Given the description of an element on the screen output the (x, y) to click on. 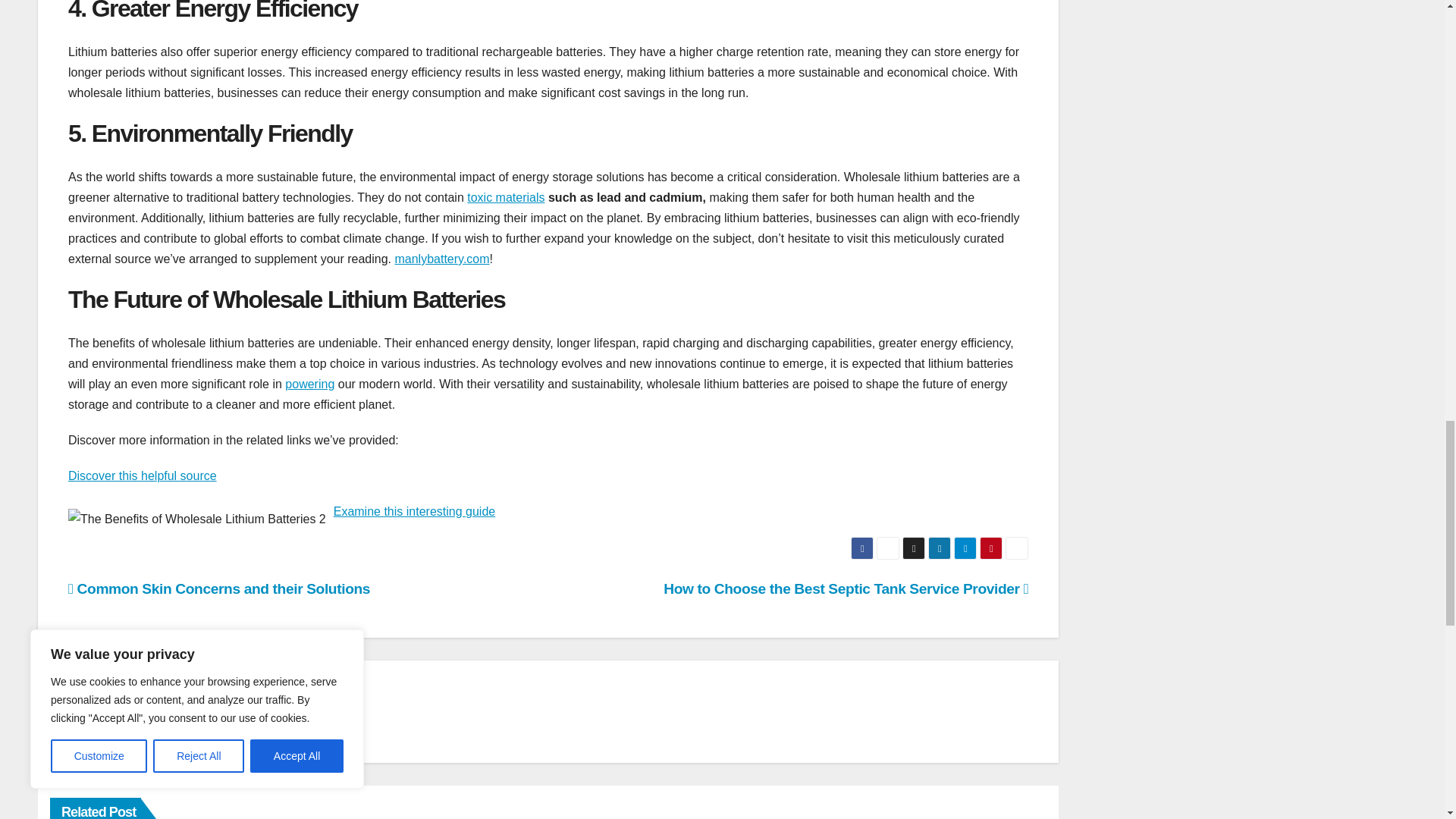
Examine this interesting guide (414, 511)
Discover this helpful source (142, 475)
powering (309, 383)
manlybattery.com (441, 258)
toxic materials (505, 196)
